Given the description of an element on the screen output the (x, y) to click on. 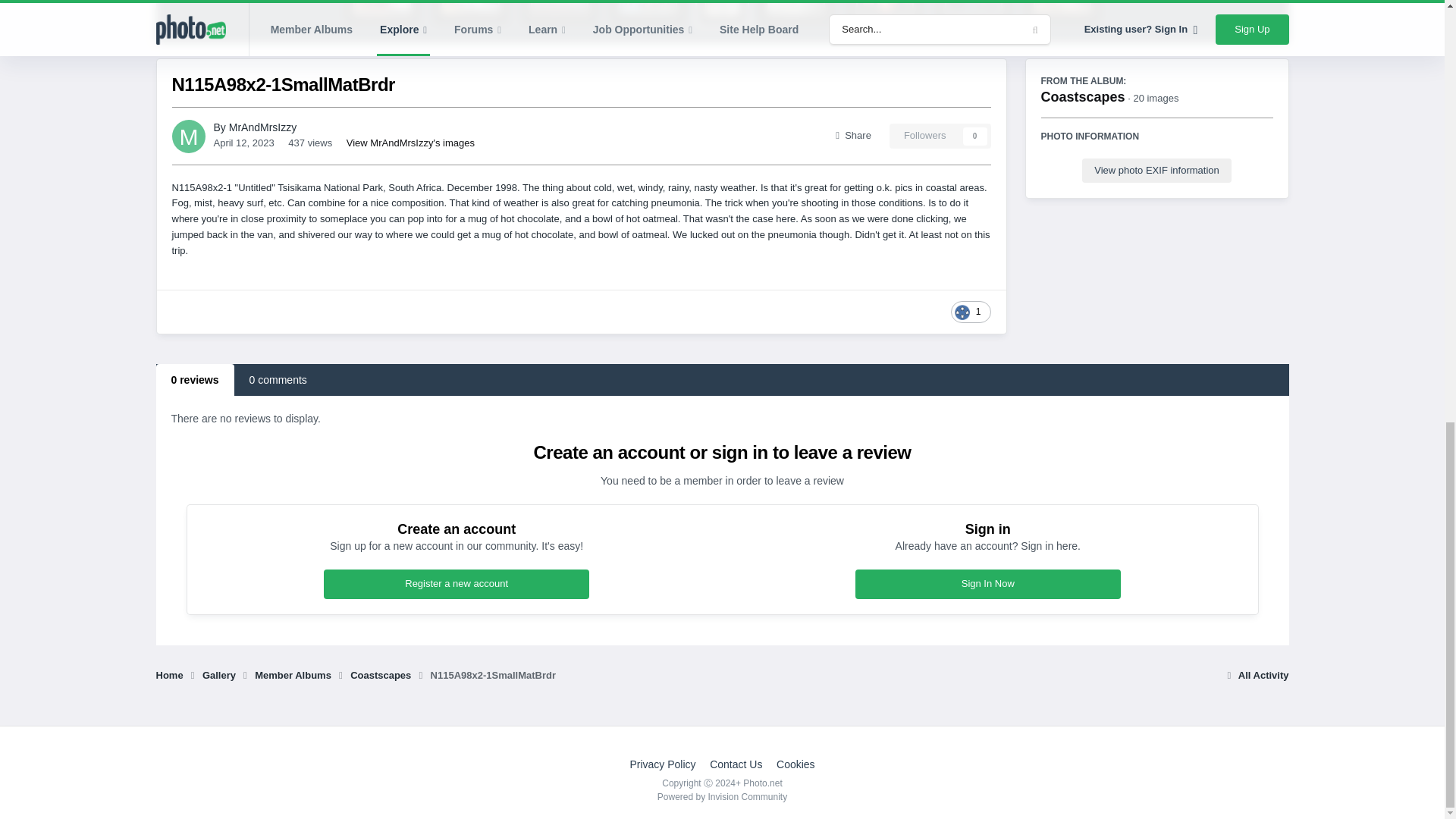
View the image N107B99x12A-1SmallMatBrdr (795, 12)
View the image N073A95x28-1SmallMatBrdr (972, 12)
View the image N151B00x36-1SmallMatBrdr (648, 12)
View the image N162B98x28-1SmallMatBrdr (381, 12)
View the image N106B99x20A-1SmallMatBrdr (884, 12)
Go to MrAndMrsIzzy's profile (188, 136)
View the image N115A98x2-1SmallMatBrdr (721, 12)
Go to MrAndMrsIzzy's profile (262, 127)
View the image N162B98x5-1SmallMatBrdr (559, 12)
View the image N061B00x20-1SmallMatBrdr (1061, 12)
View the image N162B98x26-1SmallMatBrdr (470, 12)
